Given the description of an element on the screen output the (x, y) to click on. 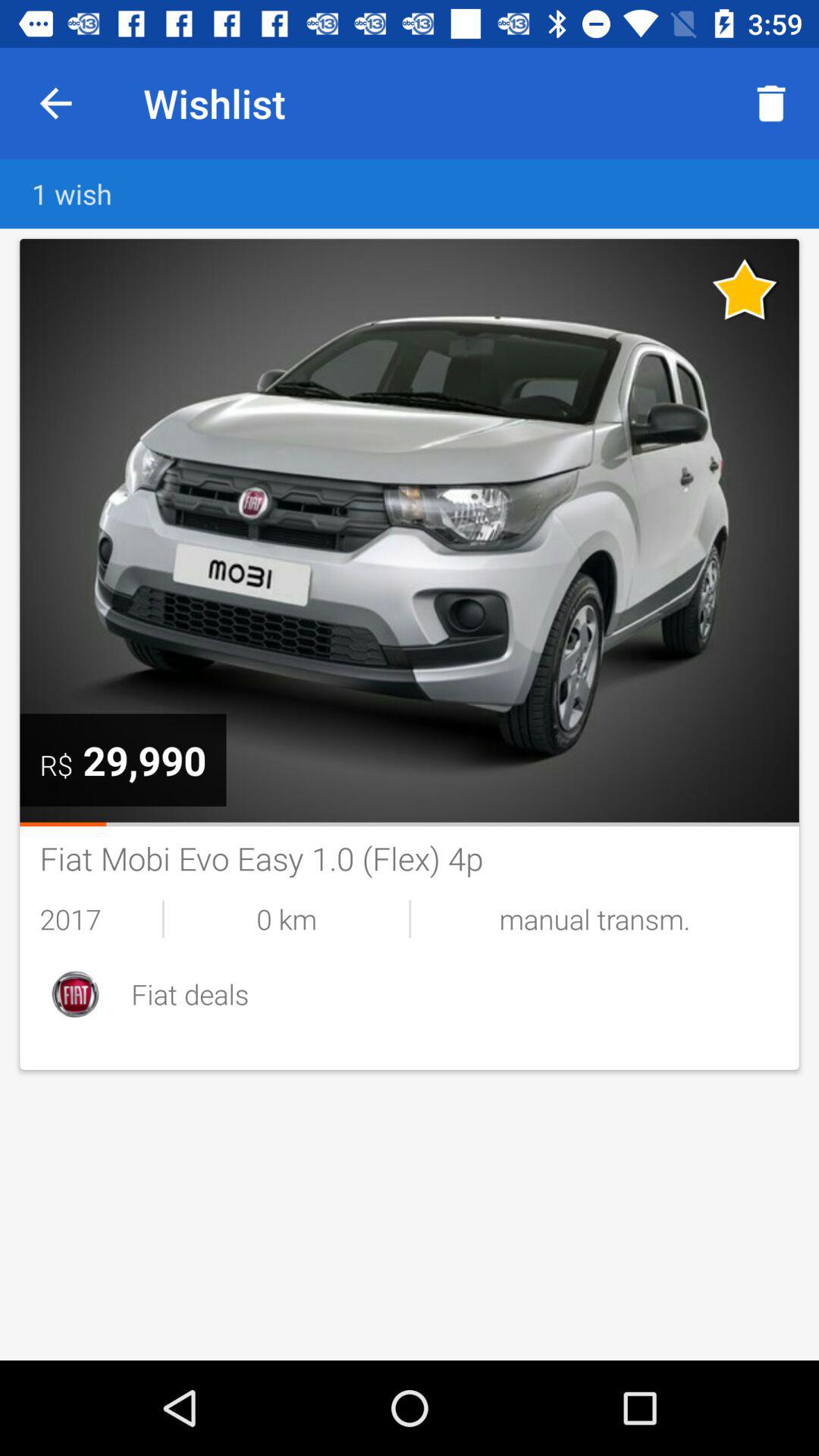
open the item below 1 wish item (144, 759)
